Given the description of an element on the screen output the (x, y) to click on. 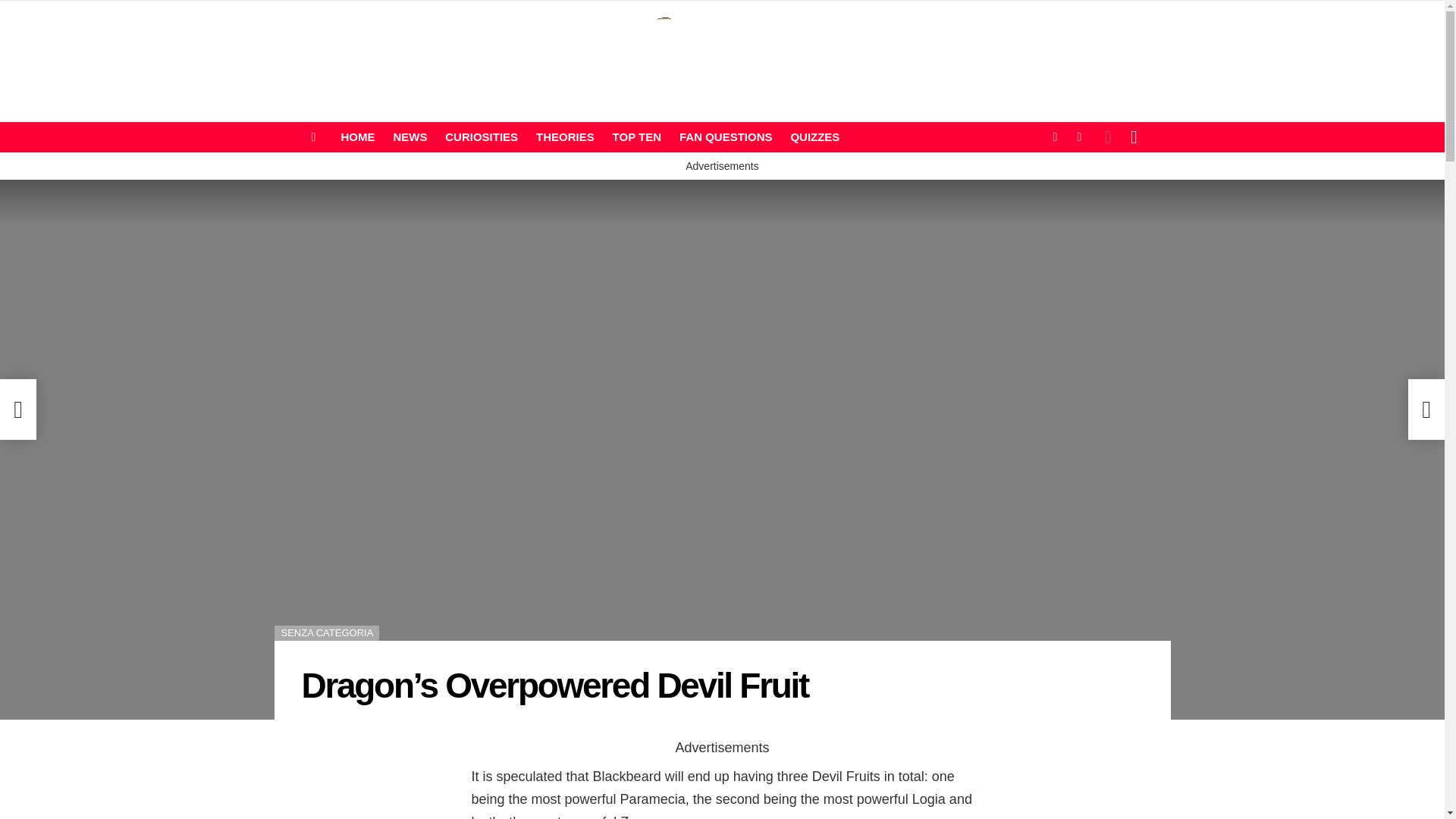
THEORIES (565, 137)
NEWS (409, 137)
FAN QUESTIONS (725, 137)
TOP TEN (636, 137)
instagram (1078, 136)
facebook (1054, 136)
CURIOSITIES (481, 137)
QUIZZES (815, 137)
HOME (357, 137)
SENZA CATEGORIA (327, 632)
Menu (313, 136)
